Given the description of an element on the screen output the (x, y) to click on. 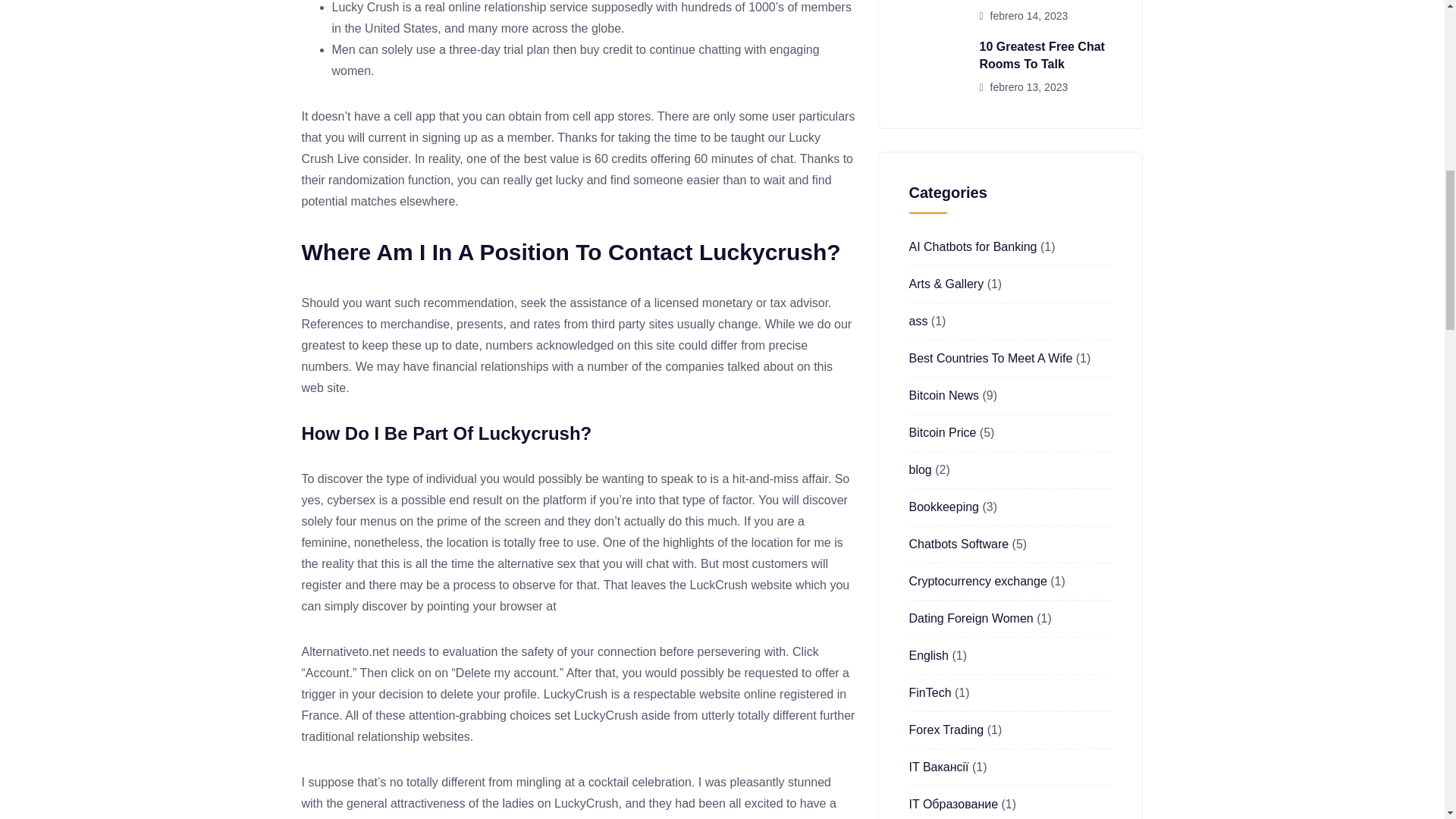
10 Greatest Free Chat Rooms To Talk (1042, 55)
Best Countries To Meet A Wife (989, 358)
Bitcoin Price (941, 431)
Bitcoin News (943, 395)
blog (919, 469)
Bookkeeping (943, 506)
ass (917, 320)
AI Chatbots for Banking (972, 246)
